Given the description of an element on the screen output the (x, y) to click on. 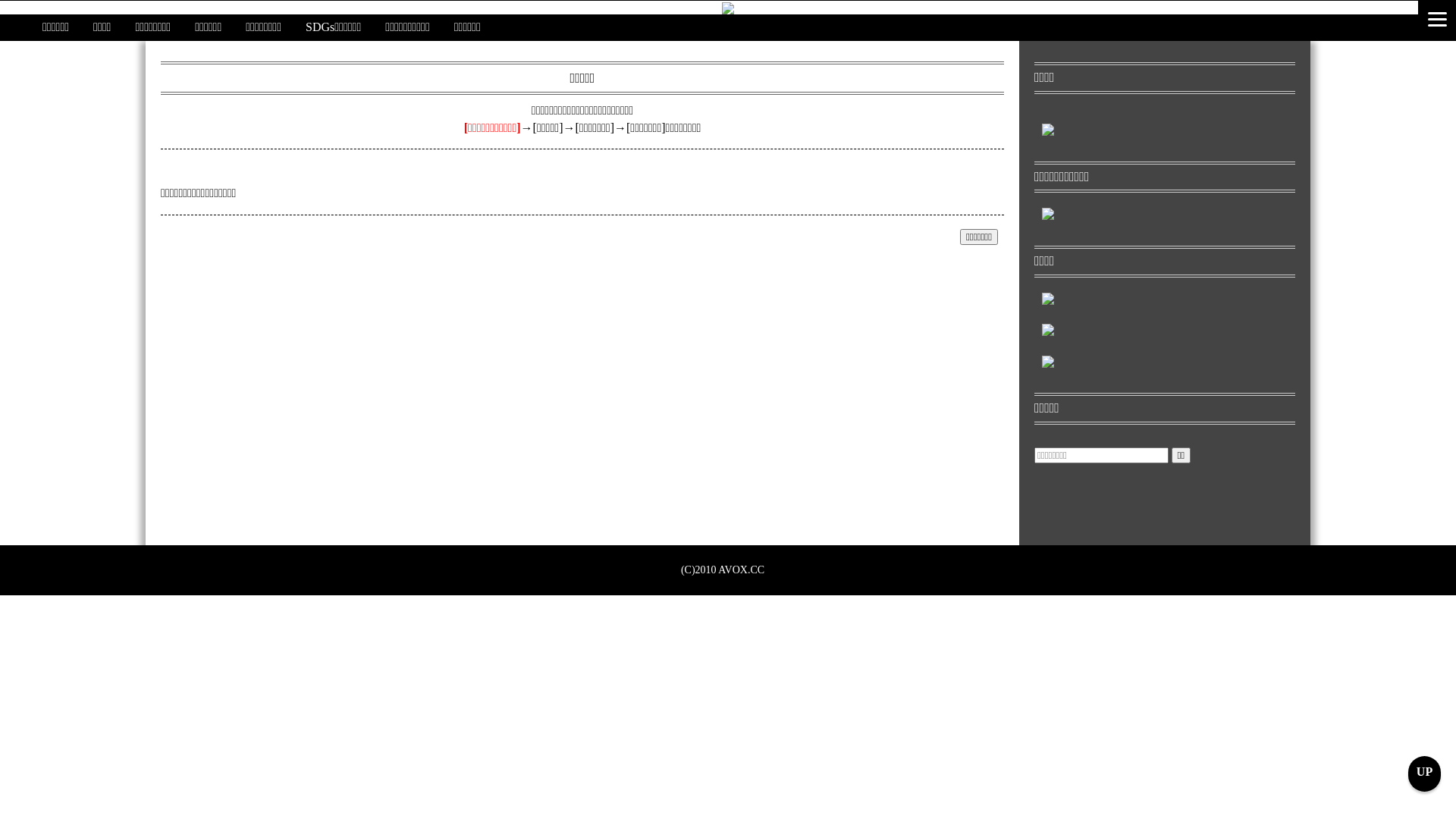
UP Element type: text (1424, 773)
